Given the description of an element on the screen output the (x, y) to click on. 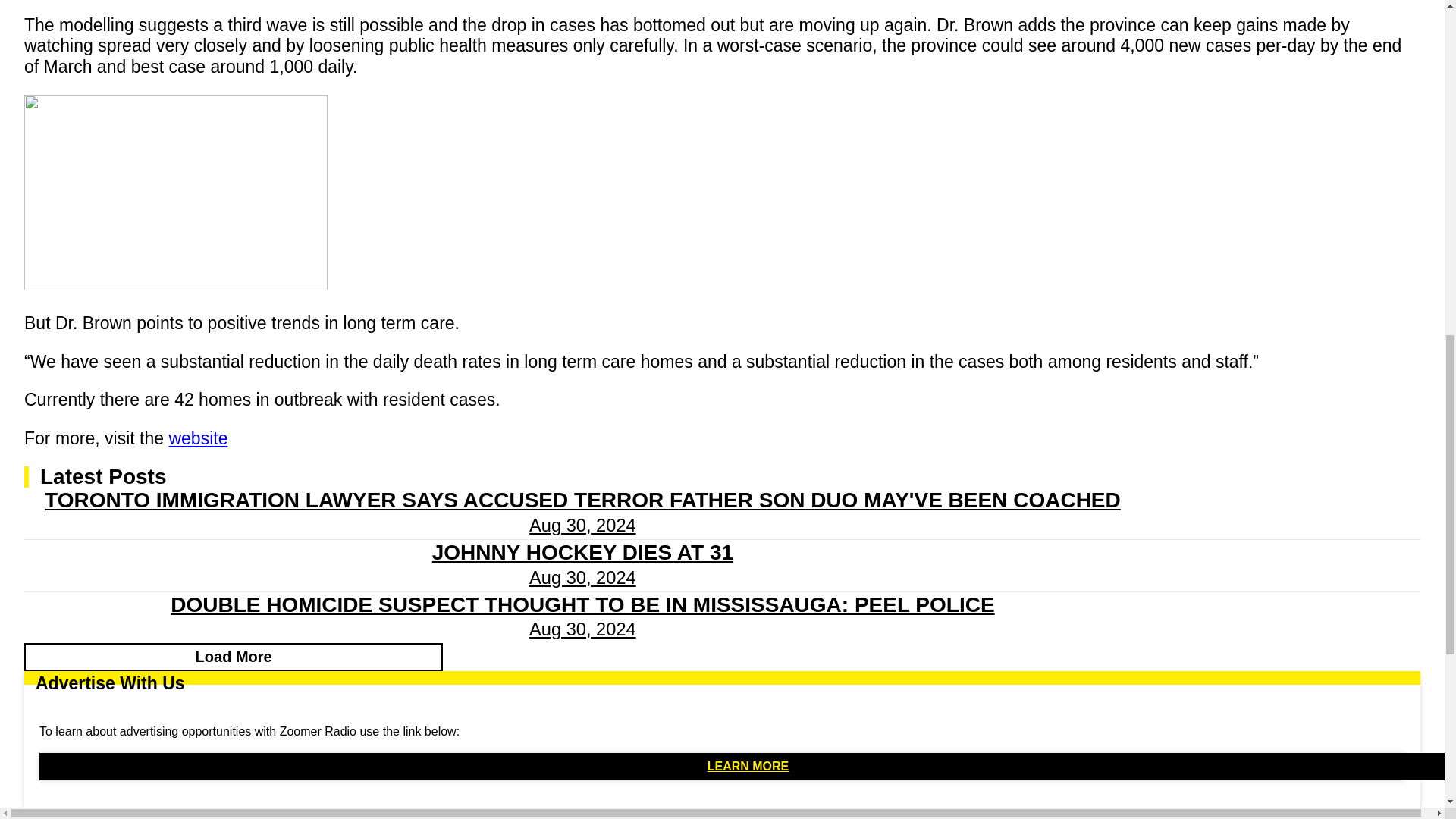
website (197, 437)
